Given the description of an element on the screen output the (x, y) to click on. 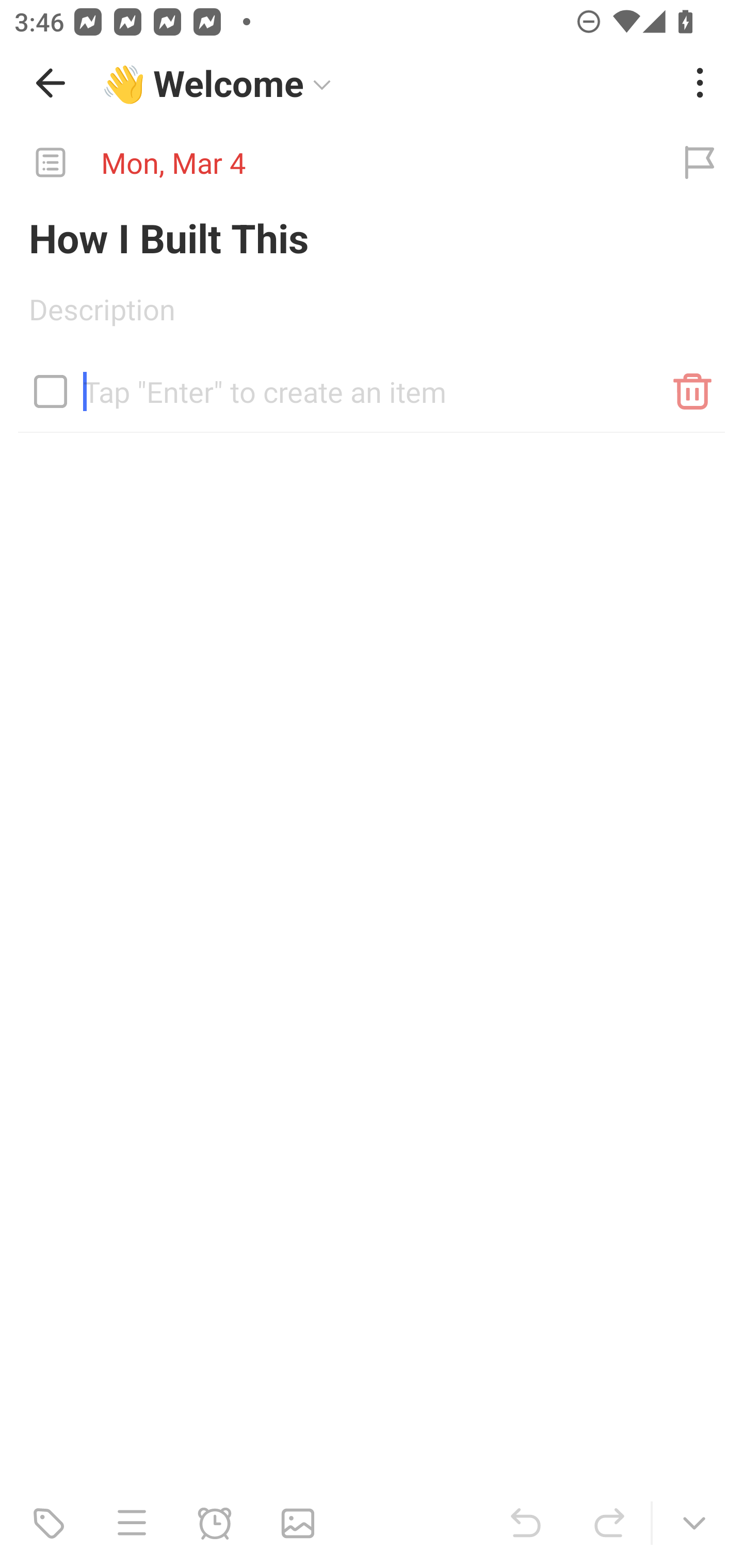
👋 Welcome (384, 82)
Mon, Mar 4  (328, 163)
How I Built This (371, 237)
Description (371, 315)
  Tap "Enter" to create an item   (371, 394)
  (50, 390)
Tap "Enter" to create an item (371, 383)
